Given the description of an element on the screen output the (x, y) to click on. 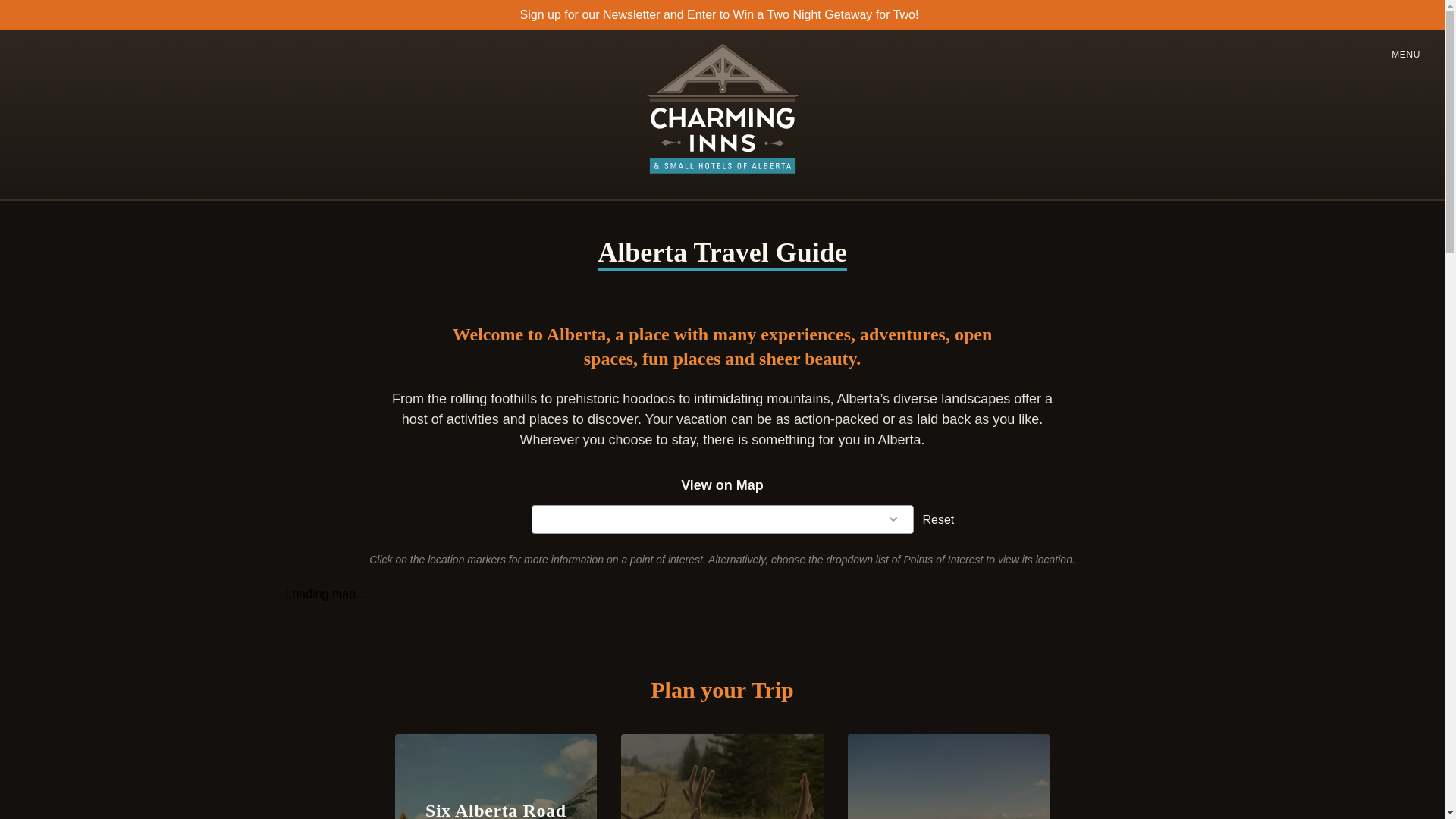
Weddings (1341, 382)
Home (1341, 43)
Travel Guide (1341, 201)
Dining (1341, 419)
Press (1341, 280)
Gift Cards (1341, 455)
Getaways (1341, 122)
The Inns (1341, 83)
Blog (1341, 241)
About Us (1341, 492)
MENU (1406, 51)
